Given the description of an element on the screen output the (x, y) to click on. 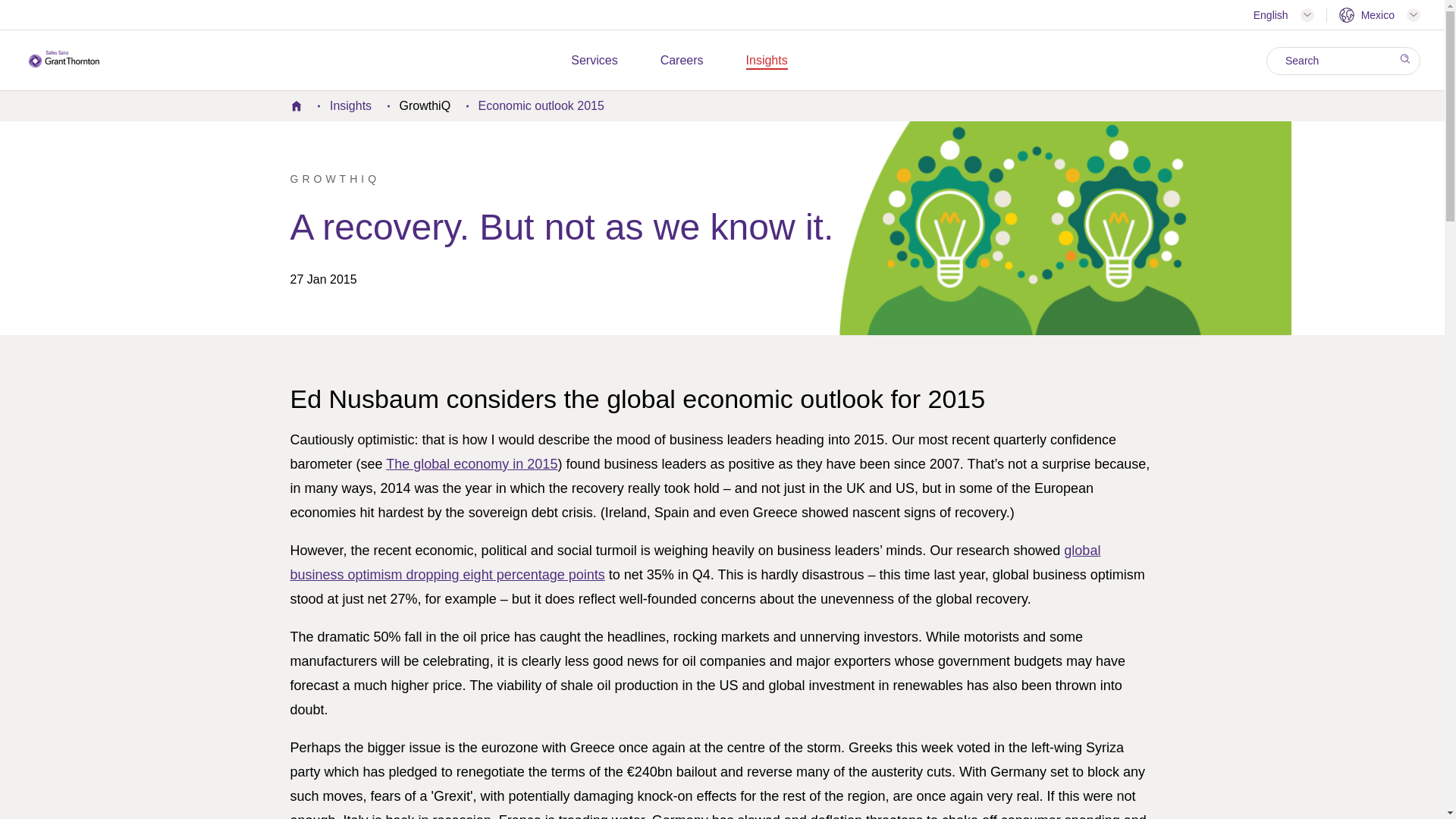
Explore the Grant Thornton network (1379, 14)
Services (593, 60)
logo (64, 57)
Mexico (1379, 14)
Careers (682, 60)
Insights (766, 60)
English (1283, 14)
